Given the description of an element on the screen output the (x, y) to click on. 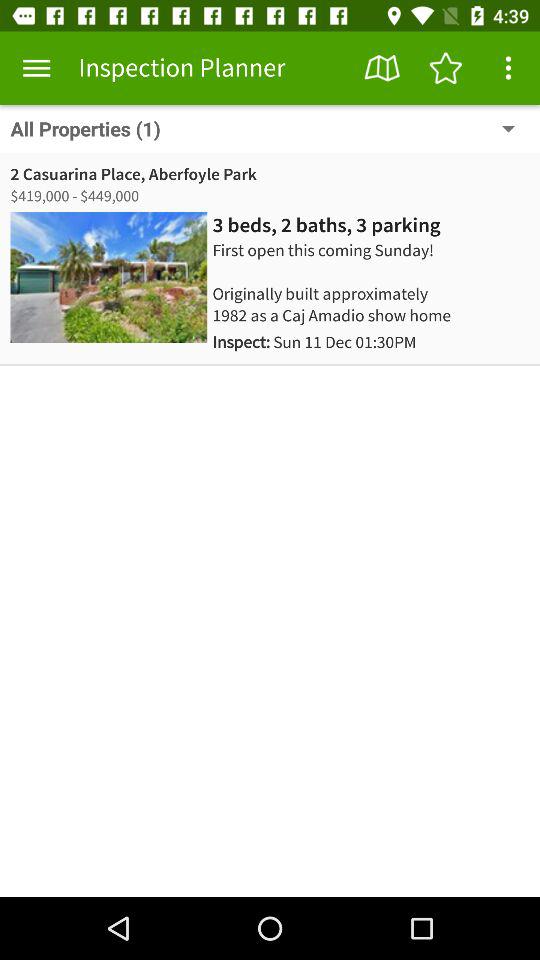
turn off app above the all properties (1) item (36, 68)
